Given the description of an element on the screen output the (x, y) to click on. 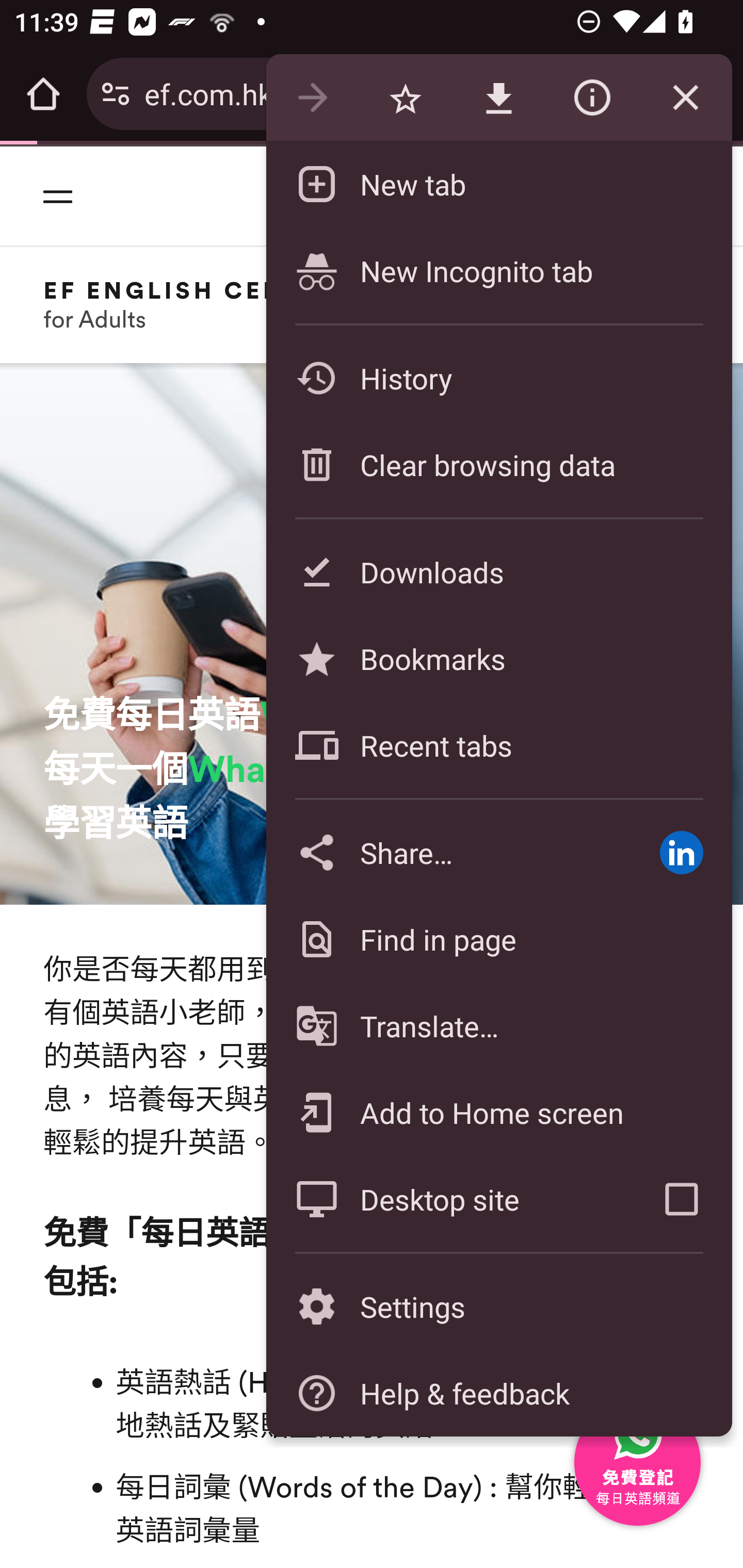
Forward (311, 97)
Bookmark (404, 97)
Download (498, 97)
Page info (591, 97)
Stop refreshing (684, 97)
New tab (498, 184)
New Incognito tab (498, 270)
History (498, 377)
Clear browsing data (498, 464)
Downloads (498, 571)
Bookmarks (498, 658)
Recent tabs (498, 745)
Share… (447, 852)
Share via Share in a post (680, 852)
Find in page (498, 939)
Translate… (498, 1026)
Add to Home screen (498, 1112)
Desktop site Turn on Request desktop site (447, 1198)
Settings (498, 1306)
Help & feedback (498, 1393)
